Given the description of an element on the screen output the (x, y) to click on. 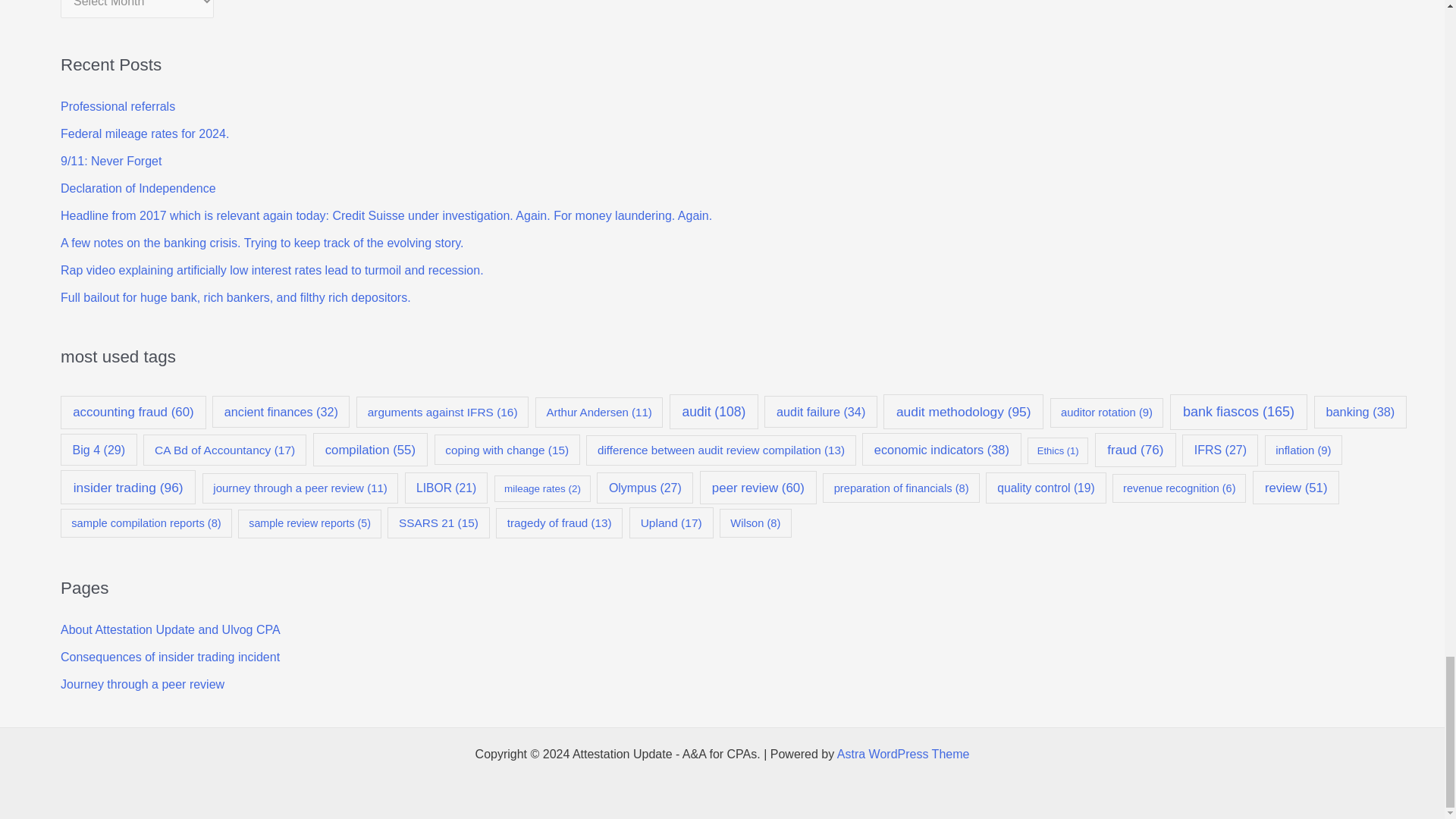
Professional referrals (117, 106)
Declaration of Independence (138, 187)
Federal mileage rates for 2024. (144, 133)
